Given the description of an element on the screen output the (x, y) to click on. 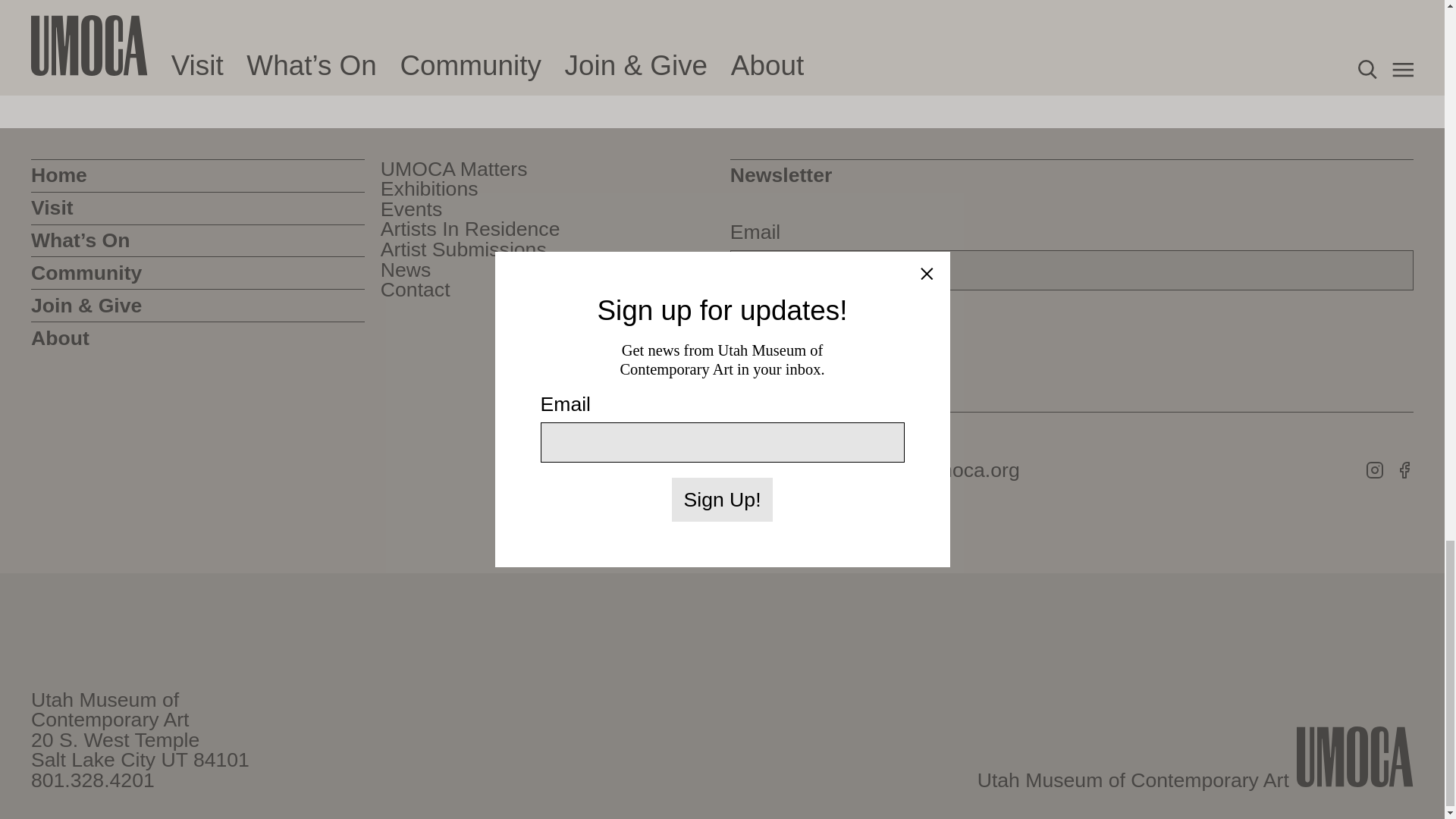
UMOCA Matters (453, 168)
Contact (414, 290)
Events (411, 209)
News (405, 270)
About (197, 337)
Subscribe (786, 327)
Artists In Residence (470, 229)
Exhibitions (429, 189)
Visit (197, 207)
Community (197, 272)
